Given the description of an element on the screen output the (x, y) to click on. 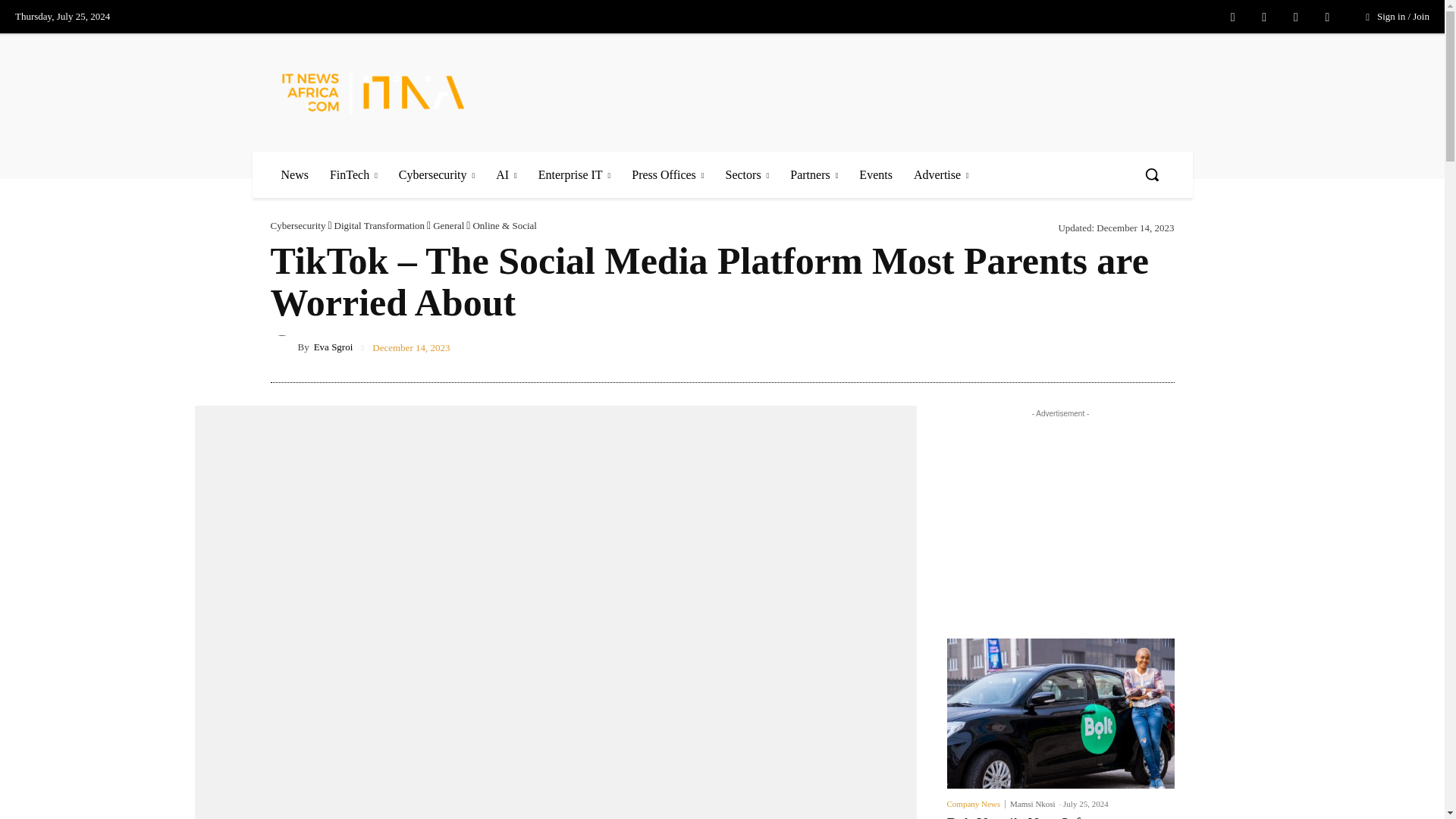
Youtube (1327, 17)
Twitter (1295, 17)
IT News Africa (373, 92)
Instagram (1263, 17)
News (293, 174)
Facebook (1233, 17)
IT News Africa (392, 92)
FinTech (353, 174)
